Given the description of an element on the screen output the (x, y) to click on. 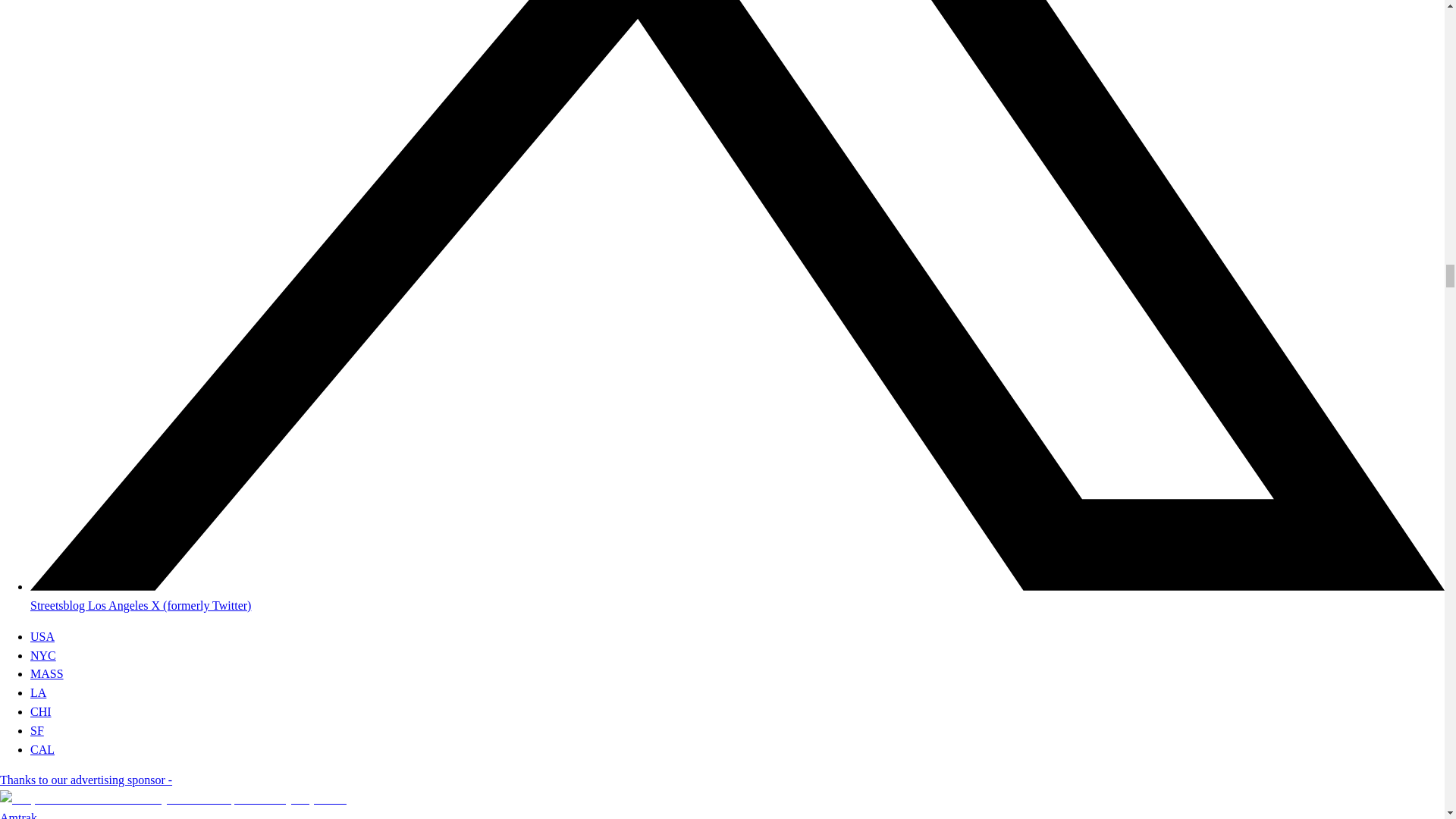
USA (42, 635)
MASS (47, 673)
Amtrak (18, 815)
CAL (42, 748)
CHI (40, 711)
SF (36, 730)
NYC (43, 655)
LA (38, 692)
